Given the description of an element on the screen output the (x, y) to click on. 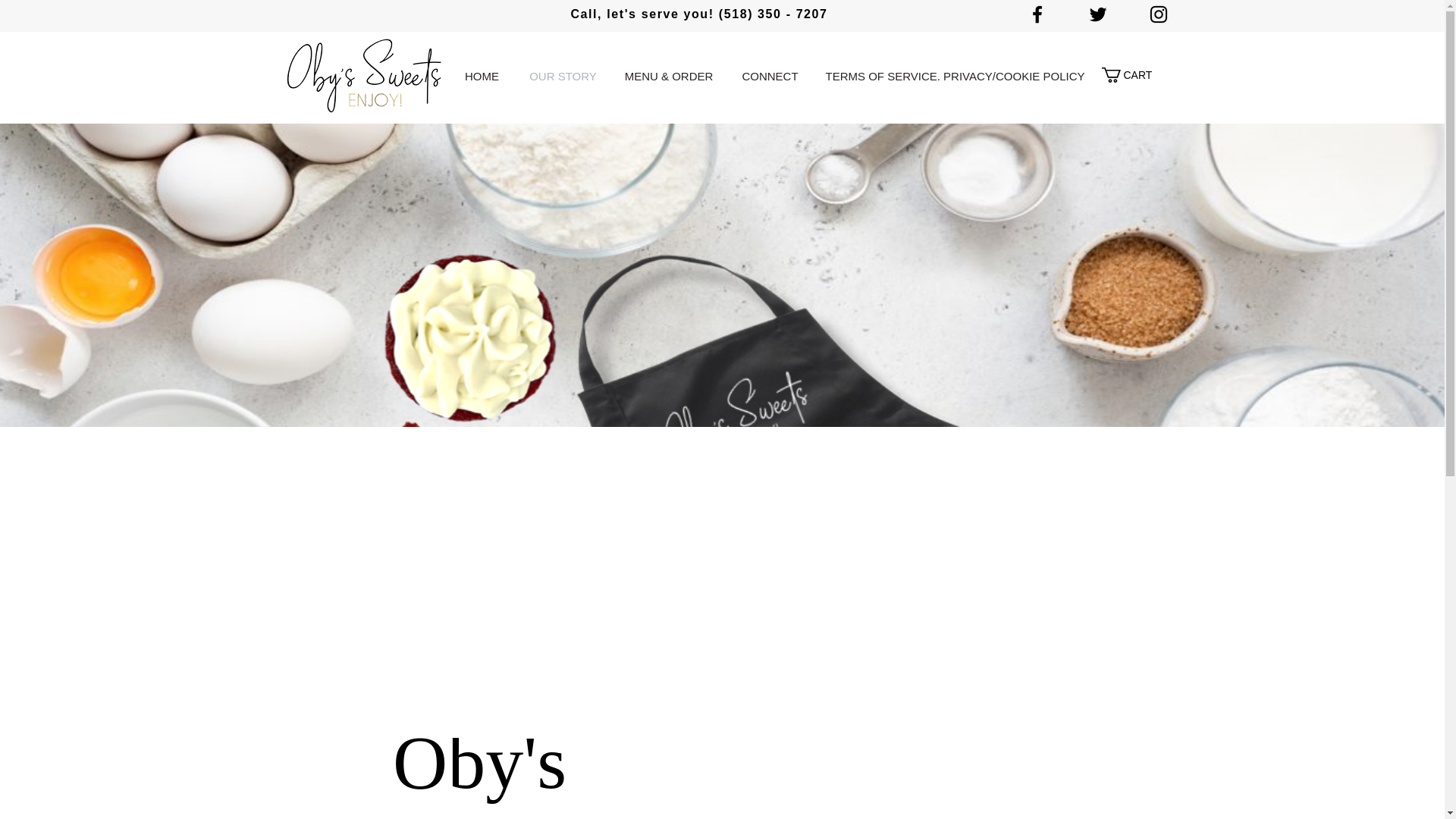
CONNECT (769, 76)
CART (1133, 74)
HOME (480, 76)
CART (1133, 74)
OUR STORY (562, 76)
